Given the description of an element on the screen output the (x, y) to click on. 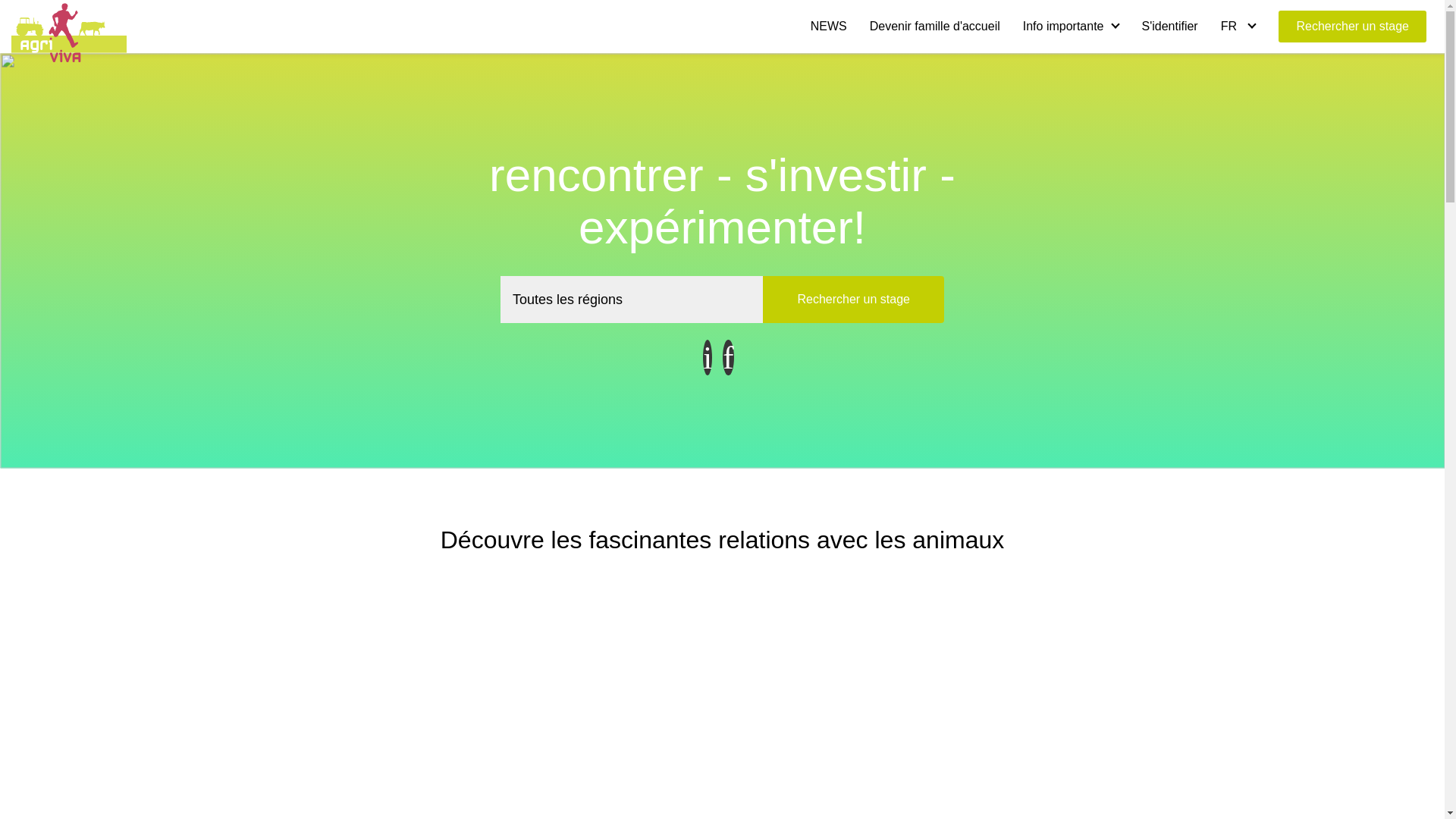
Rechercher un stage Element type: text (1352, 26)
f Element type: text (727, 357)
NEWS Element type: text (828, 25)
S'identifier Element type: text (1169, 25)
i Element type: text (707, 357)
Info importante Element type: text (1070, 25)
Rechercher un stage Element type: text (853, 299)
FR Element type: text (1237, 25)
Devenir famille d'accueil Element type: text (934, 25)
